Given the description of an element on the screen output the (x, y) to click on. 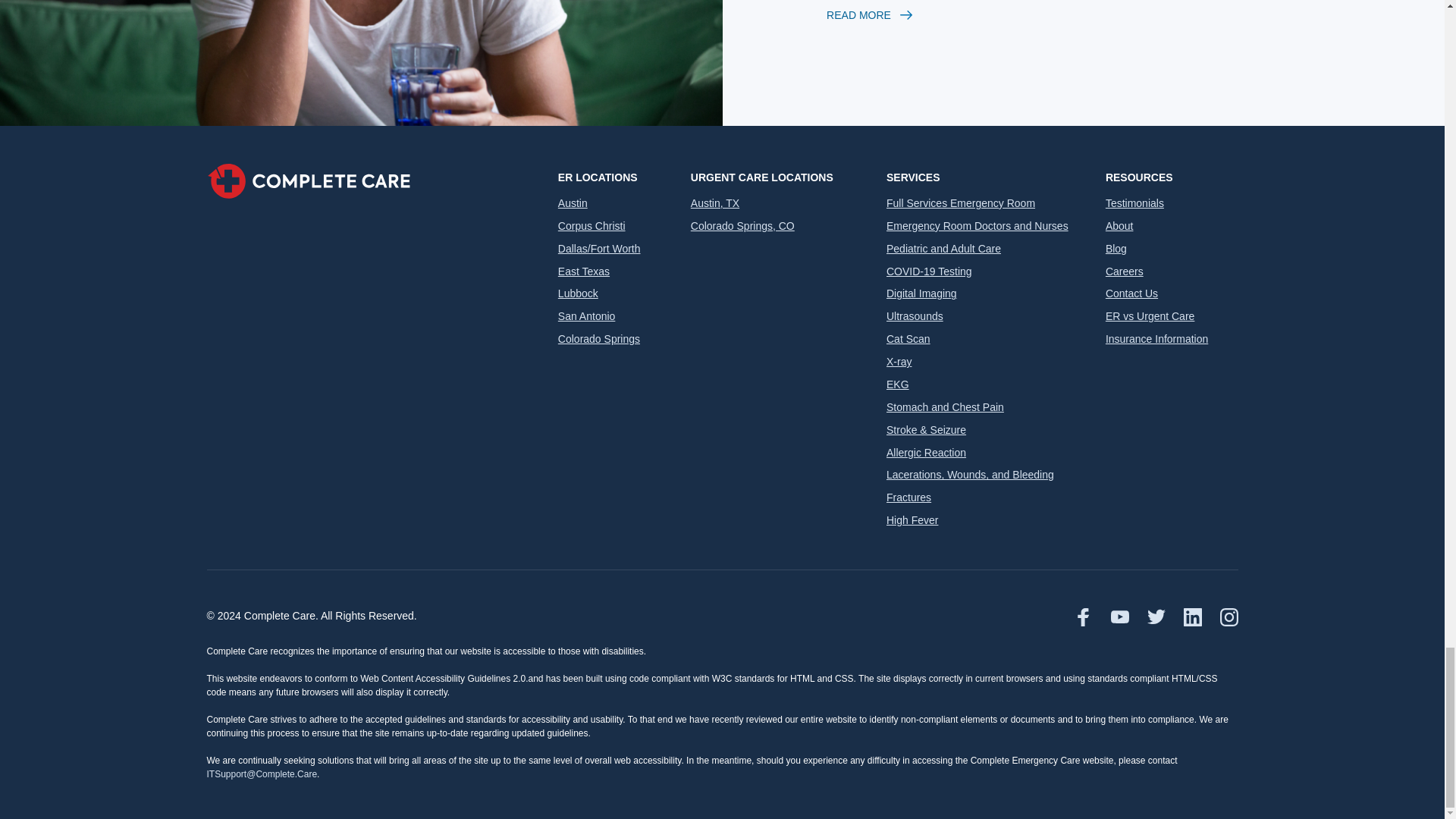
Austin (572, 203)
Corpus Christi (591, 225)
ER LOCATIONS (616, 177)
READ MORE (1022, 14)
East Texas (583, 271)
